Given the description of an element on the screen output the (x, y) to click on. 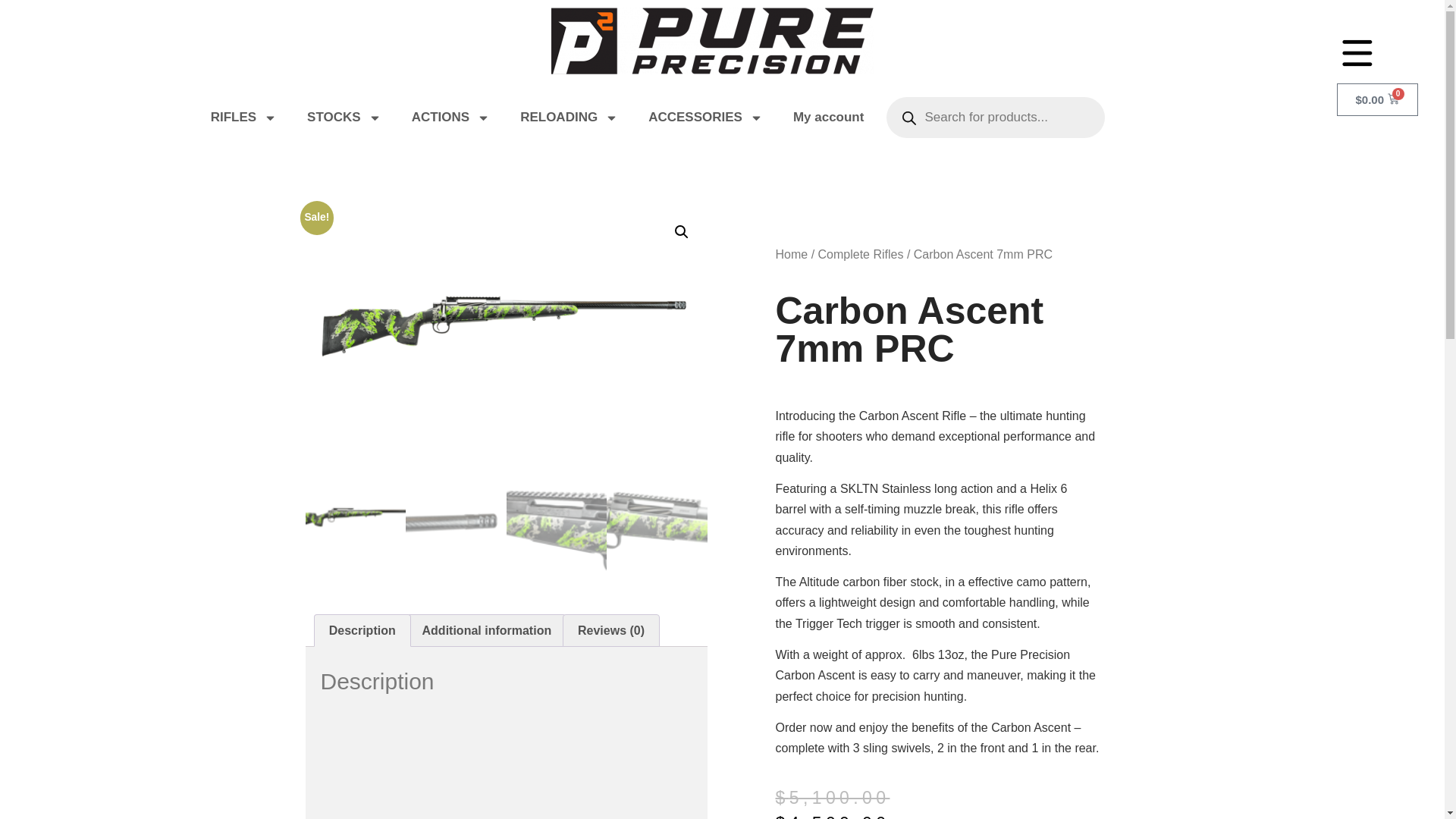
ACTIONS (450, 117)
STOCKS (344, 117)
ACCESSORIES (705, 117)
My account (828, 117)
RELOADING (569, 117)
Pure Precision Carbon Ascent Lightweight Hunting Rifle (505, 763)
Rifle (505, 340)
RIFLES (243, 117)
